Given the description of an element on the screen output the (x, y) to click on. 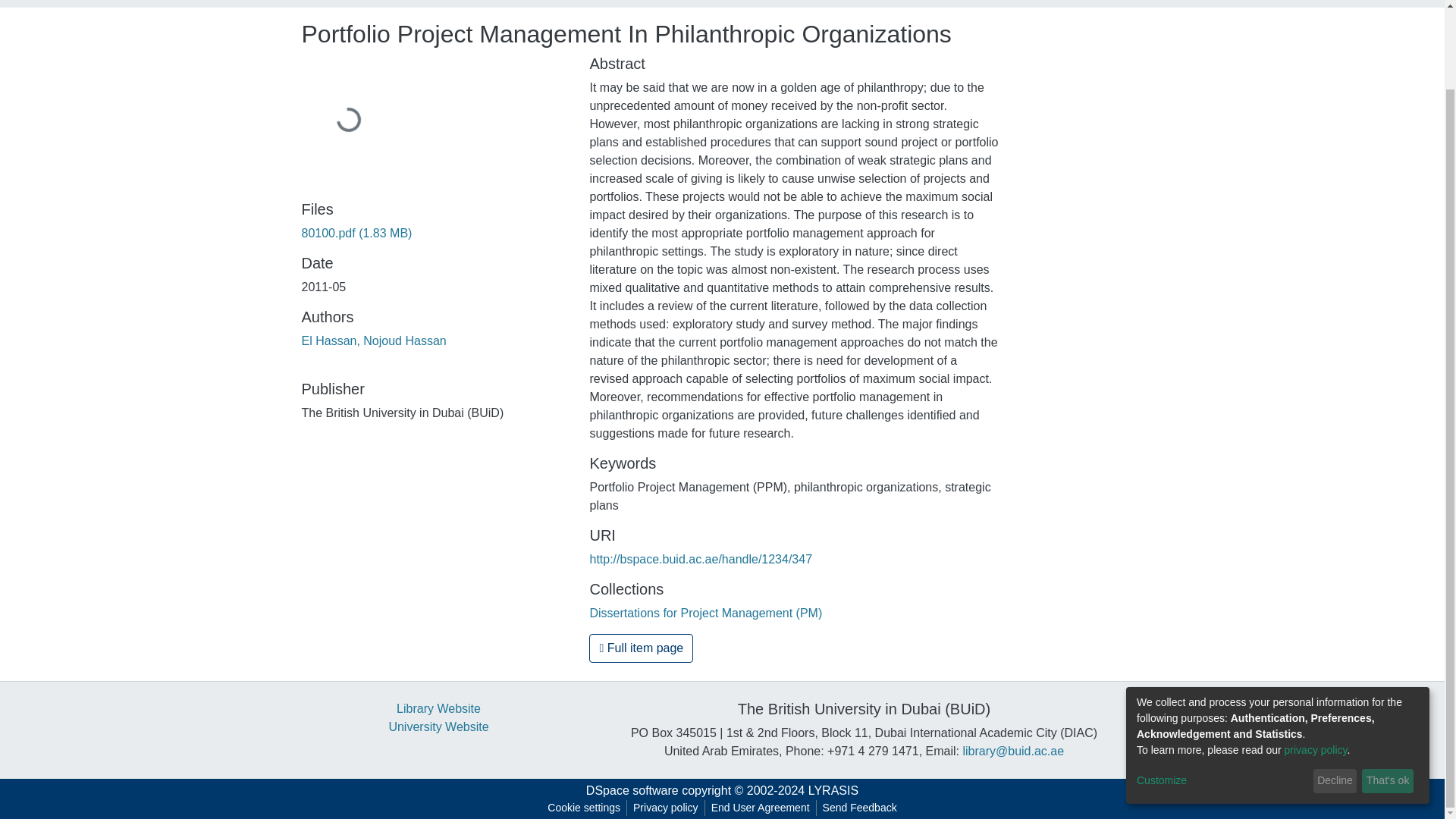
Full item page (641, 647)
Customize (1222, 691)
El Hassan, Nojoud Hassan (373, 340)
Library Website (438, 707)
End User Agreement (759, 807)
Privacy policy (665, 807)
Cookie settings (583, 807)
Decline (1334, 691)
DSpace software (632, 789)
University Website (437, 726)
